Given the description of an element on the screen output the (x, y) to click on. 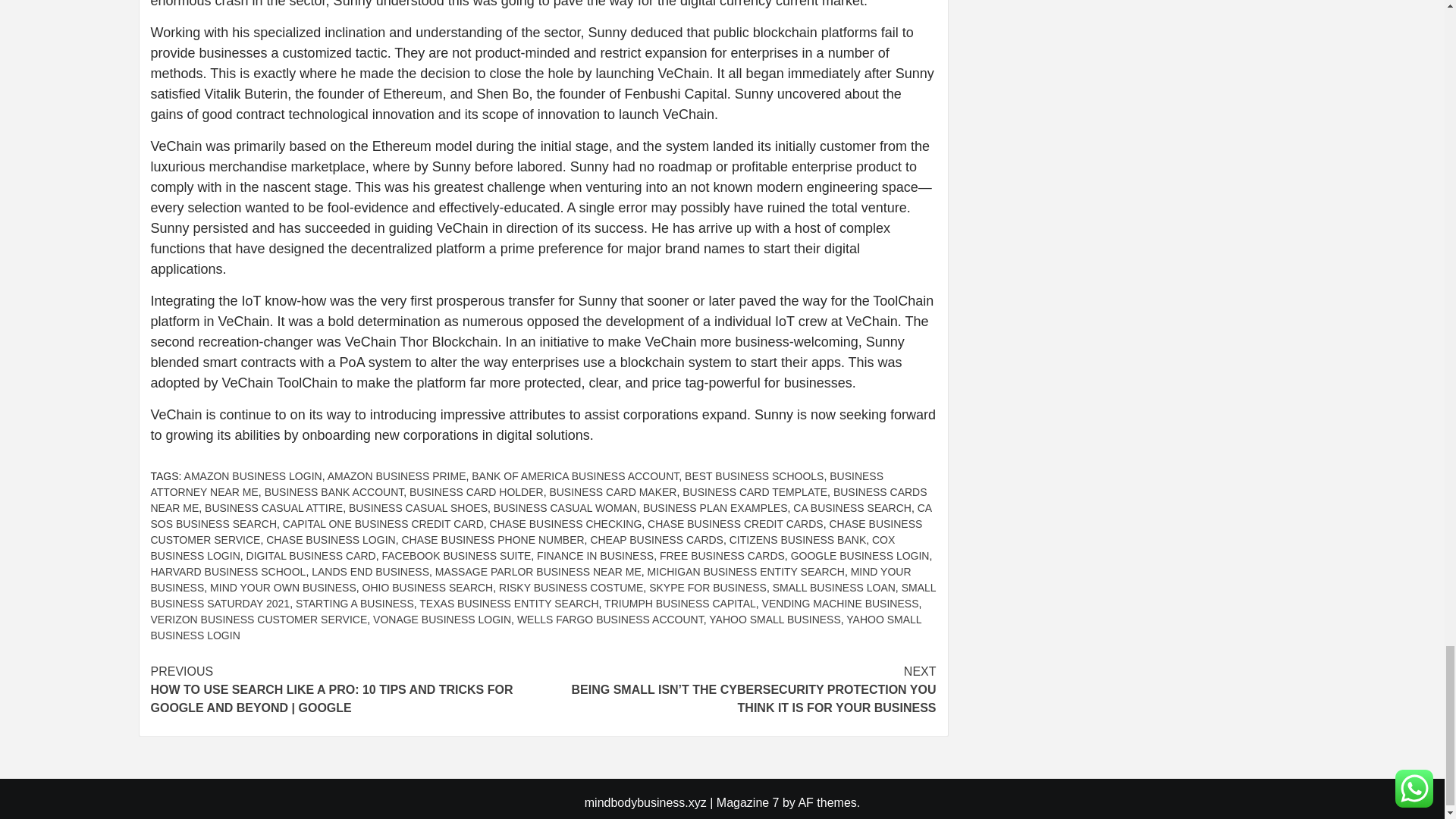
BUSINESS CARD TEMPLATE (754, 491)
CA BUSINESS SEARCH (852, 508)
BUSINESS CARD HOLDER (476, 491)
BUSINESS ATTORNEY NEAR ME (516, 483)
AMAZON BUSINESS PRIME (396, 476)
BUSINESS CASUAL SHOES (418, 508)
BEST BUSINESS SCHOOLS (754, 476)
CA SOS BUSINESS SEARCH (540, 515)
BANK OF AMERICA BUSINESS ACCOUNT (574, 476)
BUSINESS CARD MAKER (612, 491)
BUSINESS CASUAL ATTIRE (273, 508)
CAPITAL ONE BUSINESS CREDIT CARD (382, 523)
BUSINESS CARDS NEAR ME (537, 500)
BUSINESS BANK ACCOUNT (334, 491)
BUSINESS PLAN EXAMPLES (715, 508)
